Given the description of an element on the screen output the (x, y) to click on. 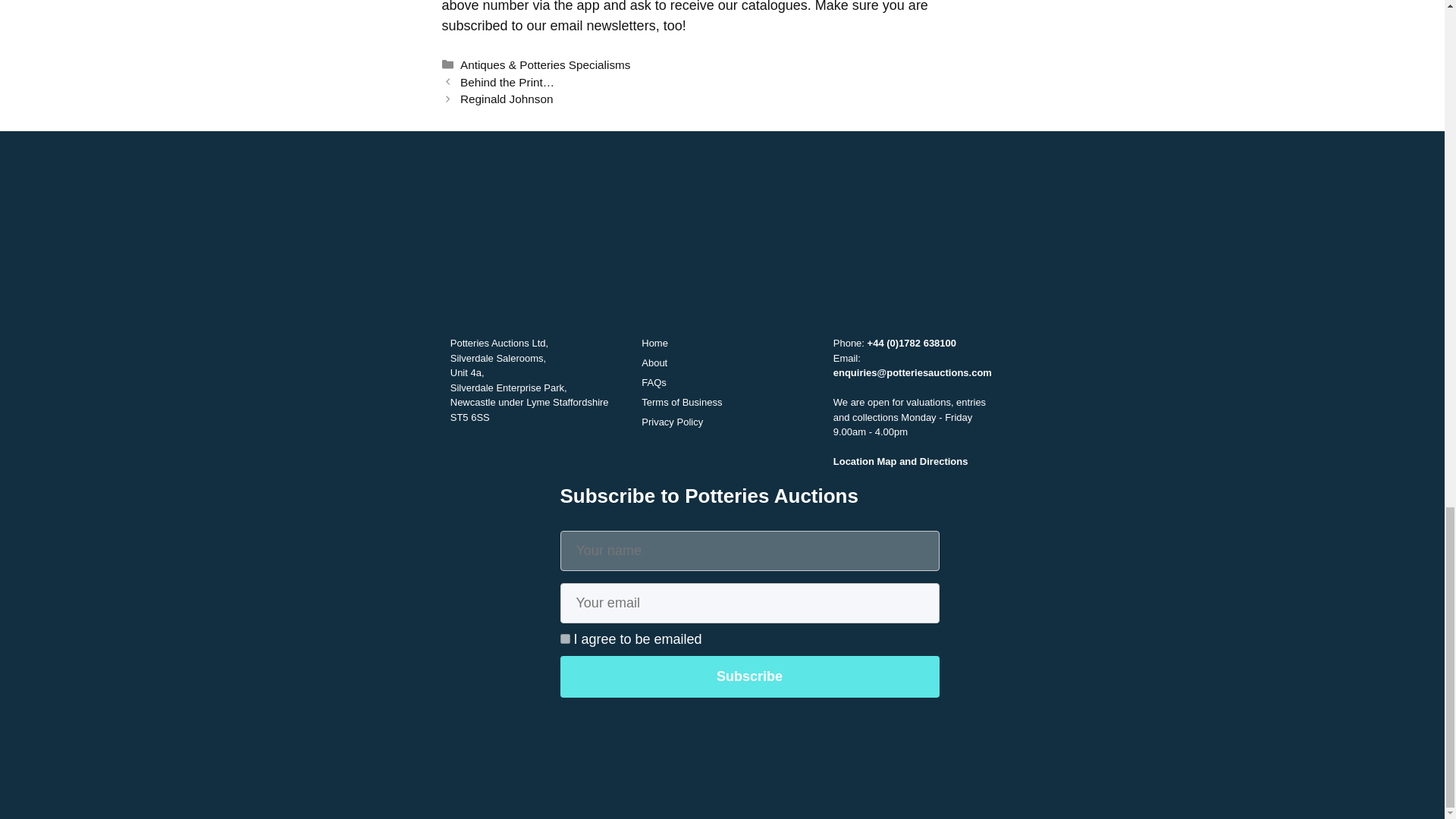
Subscribe (749, 676)
Home (655, 343)
Privacy Policy (672, 421)
About (654, 363)
Phone: (849, 342)
Reginald Johnson (506, 98)
on (564, 638)
Location Map and Directions (900, 460)
FAQs (654, 382)
Terms of Business (682, 402)
